Given the description of an element on the screen output the (x, y) to click on. 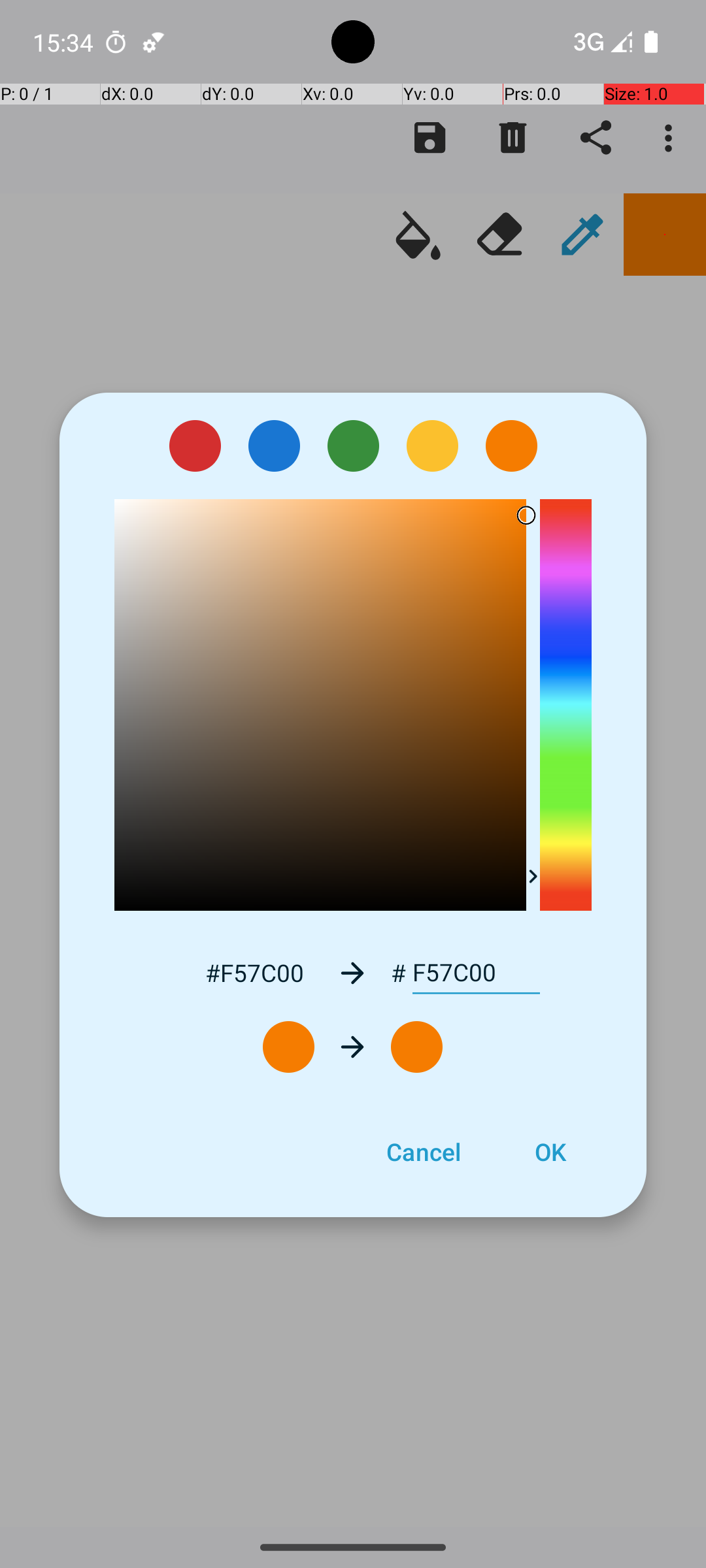
F57C00 Element type: android.widget.EditText (475, 972)
